Given the description of an element on the screen output the (x, y) to click on. 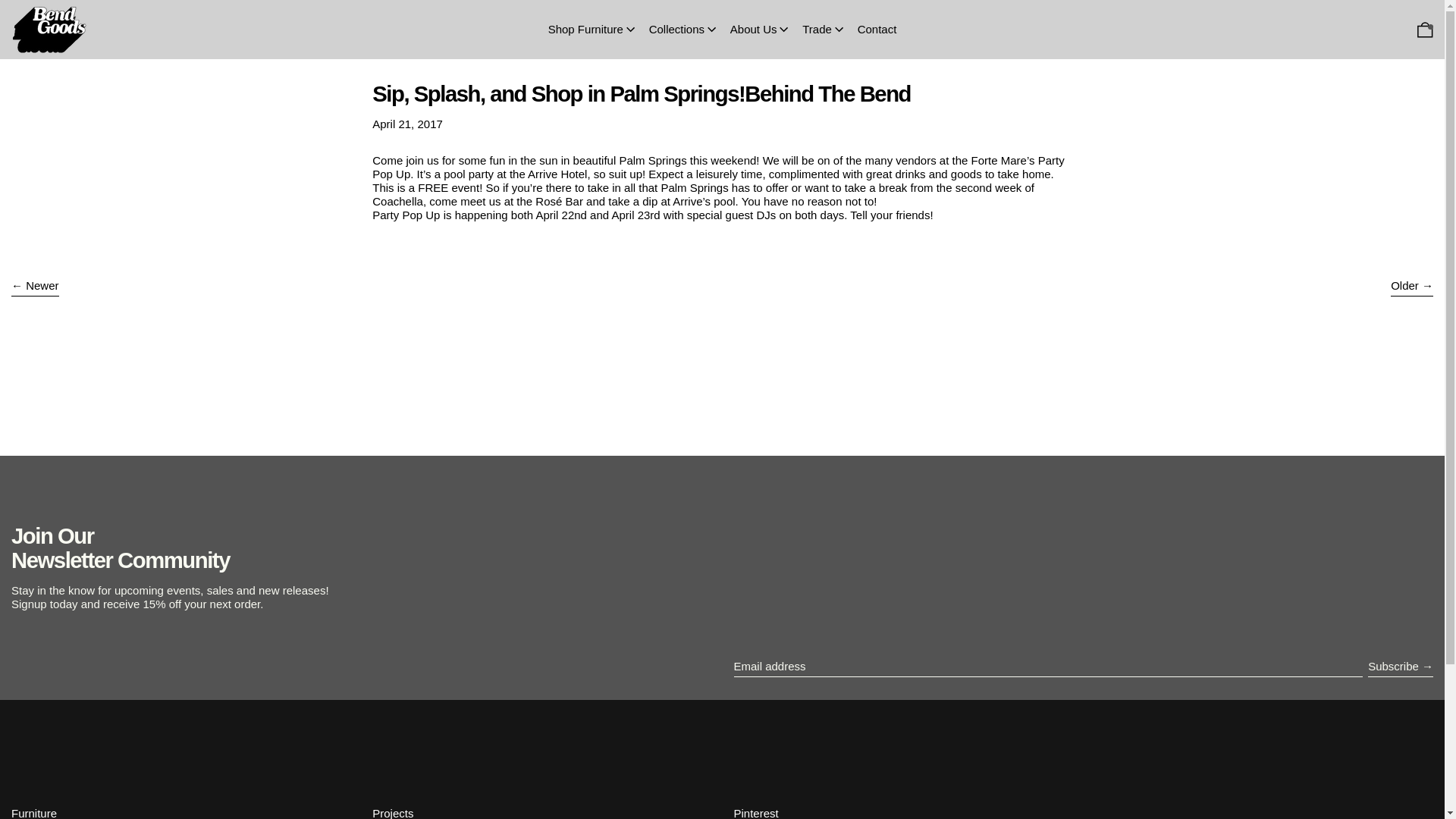
Older (1411, 287)
Older (1411, 287)
Contact (876, 29)
Newer (35, 287)
About Us (760, 29)
Furniture (33, 812)
Newer (35, 287)
0 items (1425, 29)
Collections (684, 29)
Subscribe (1400, 666)
Shop Furniture (592, 29)
Trade (823, 29)
